Given the description of an element on the screen output the (x, y) to click on. 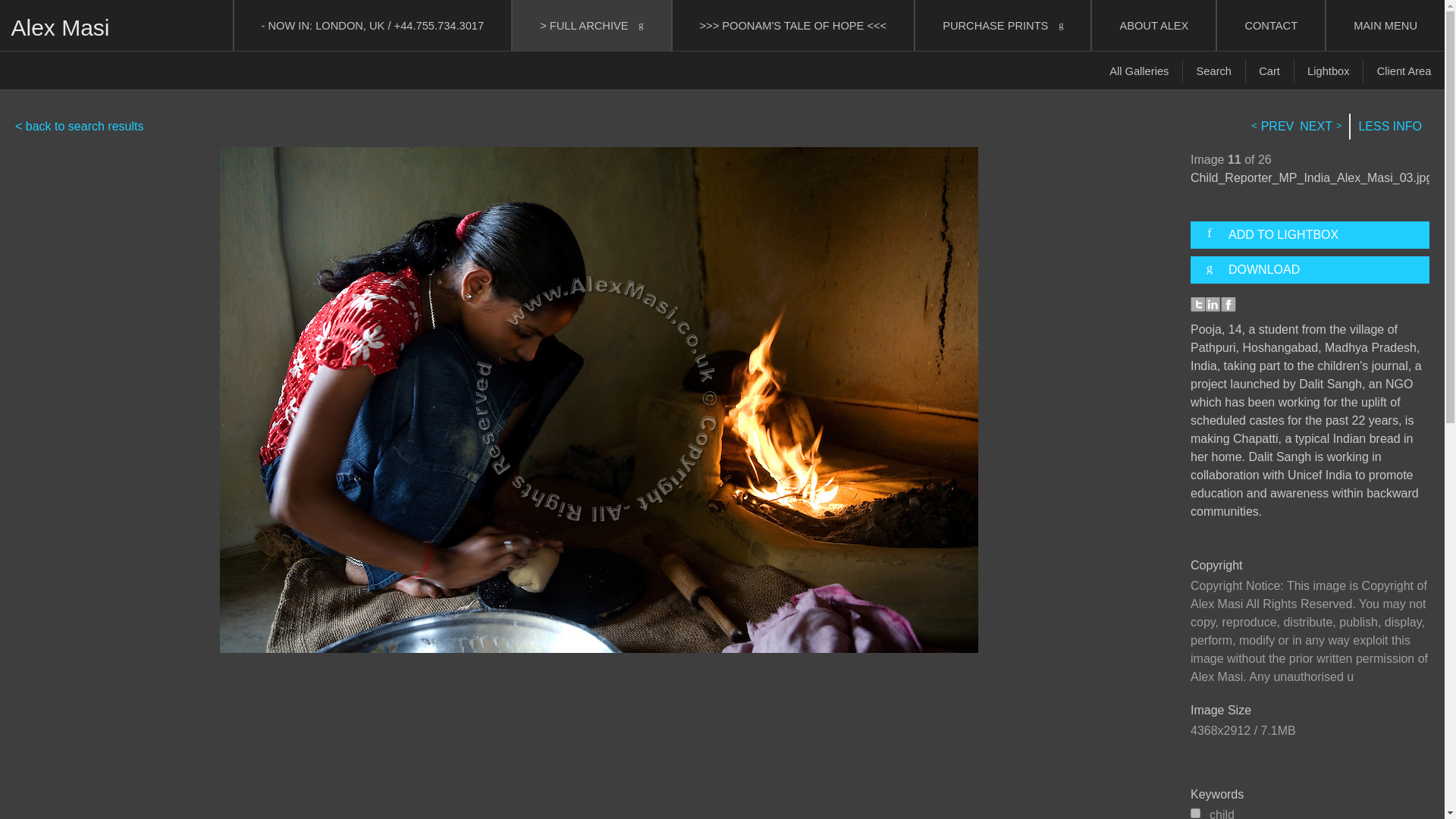
All Galleries (1139, 70)
DOWNLOAD (1316, 269)
PREV (1273, 126)
back to search results (78, 125)
Alex Masi (59, 27)
Search (1214, 70)
Cart (1270, 70)
Lightbox (1328, 70)
Info (1390, 126)
Alex Masi (59, 27)
ABOUT ALEX (1153, 25)
NEXT (1318, 126)
ADD TO LIGHTBOX (1316, 234)
child (1195, 813)
CONTACT (1270, 25)
